Given the description of an element on the screen output the (x, y) to click on. 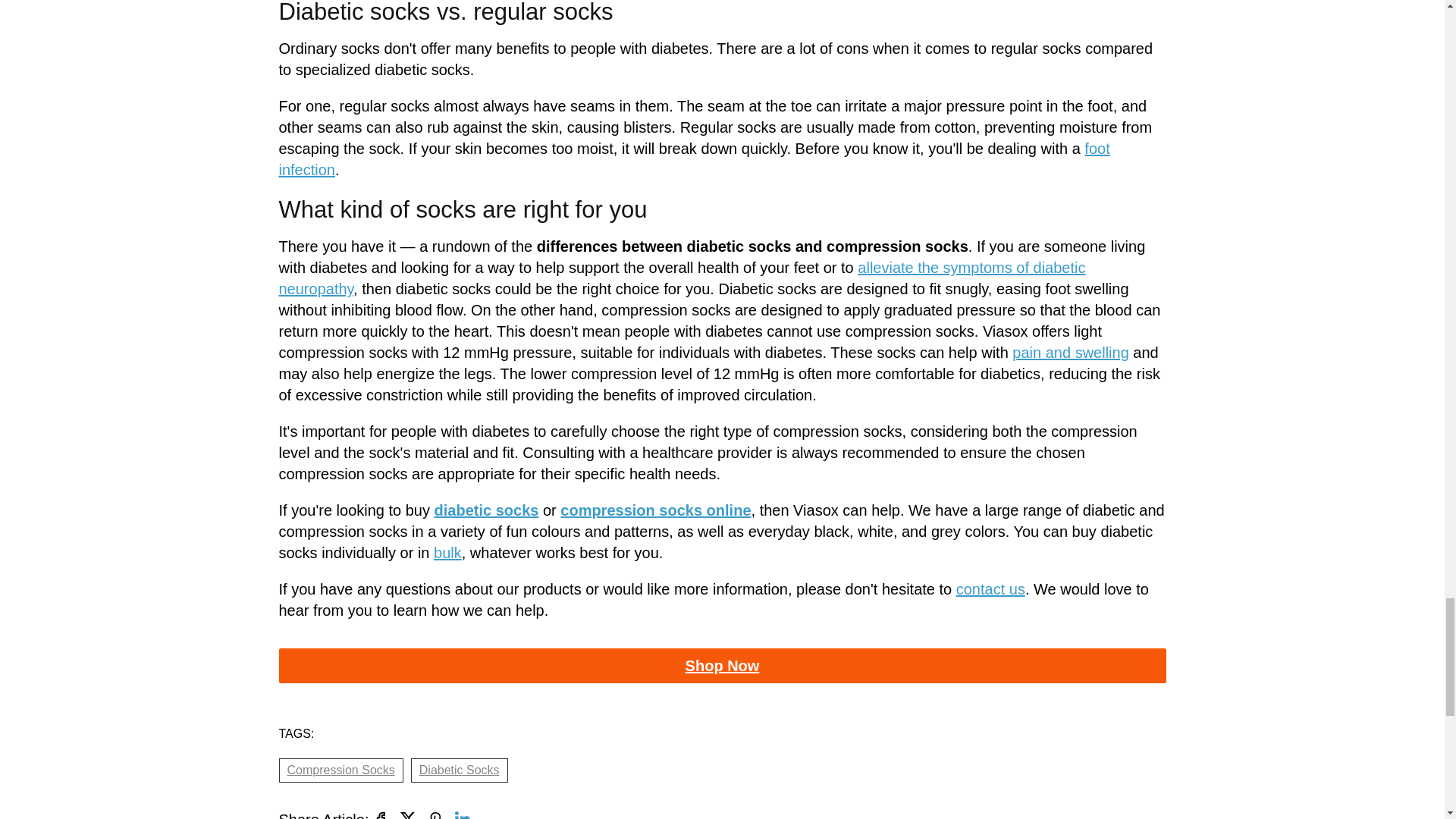
alleviate the symptoms of diabetic neuropathy (682, 278)
pain and swelling (1069, 352)
foot infection (694, 159)
